Given the description of an element on the screen output the (x, y) to click on. 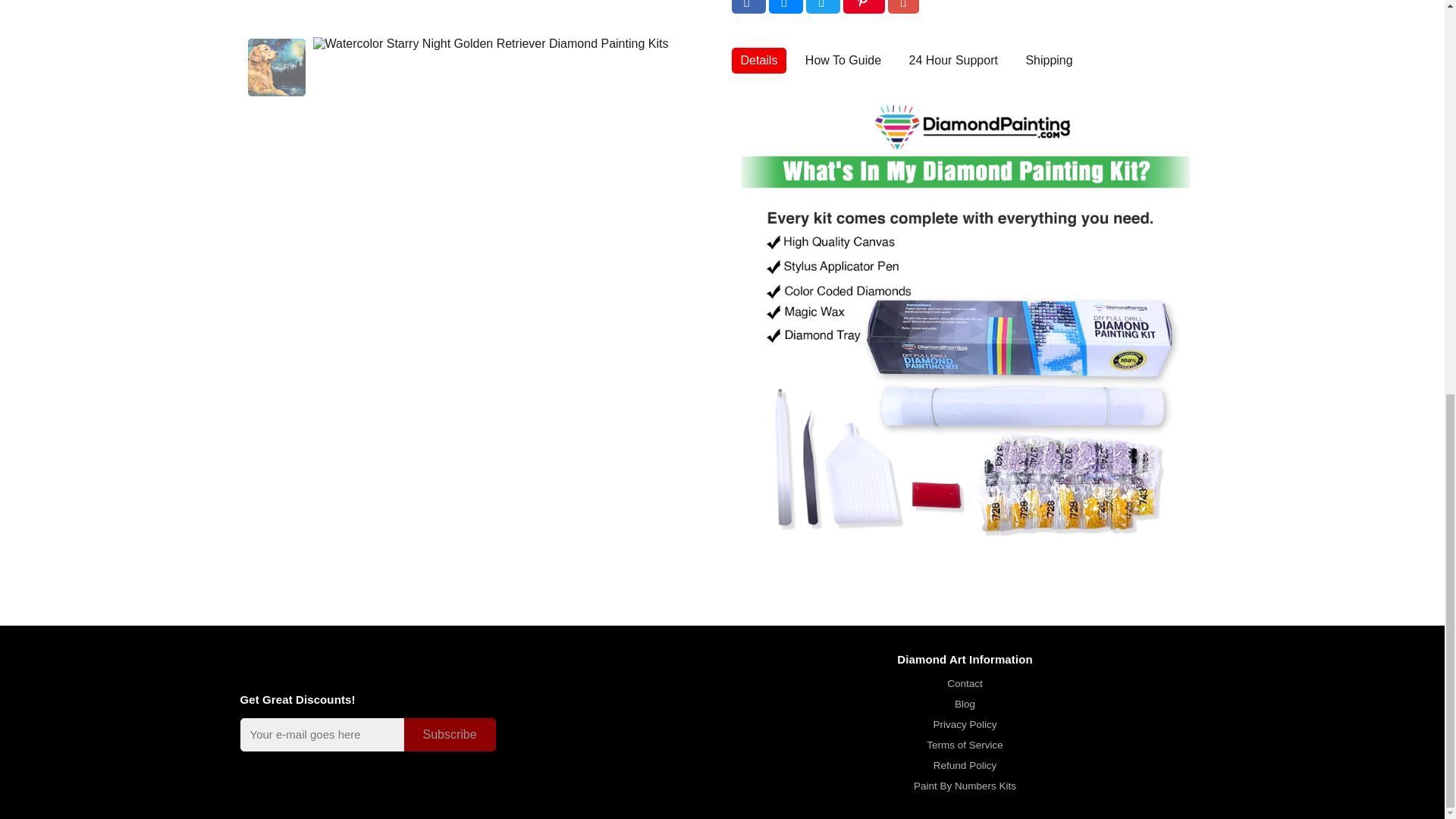
Contact (964, 683)
Terms of Service (964, 745)
Blog (964, 704)
Paint By Numbers Kits (964, 785)
Privacy Policy (964, 724)
Subscribe (449, 734)
Refund Policy (964, 765)
